Given the description of an element on the screen output the (x, y) to click on. 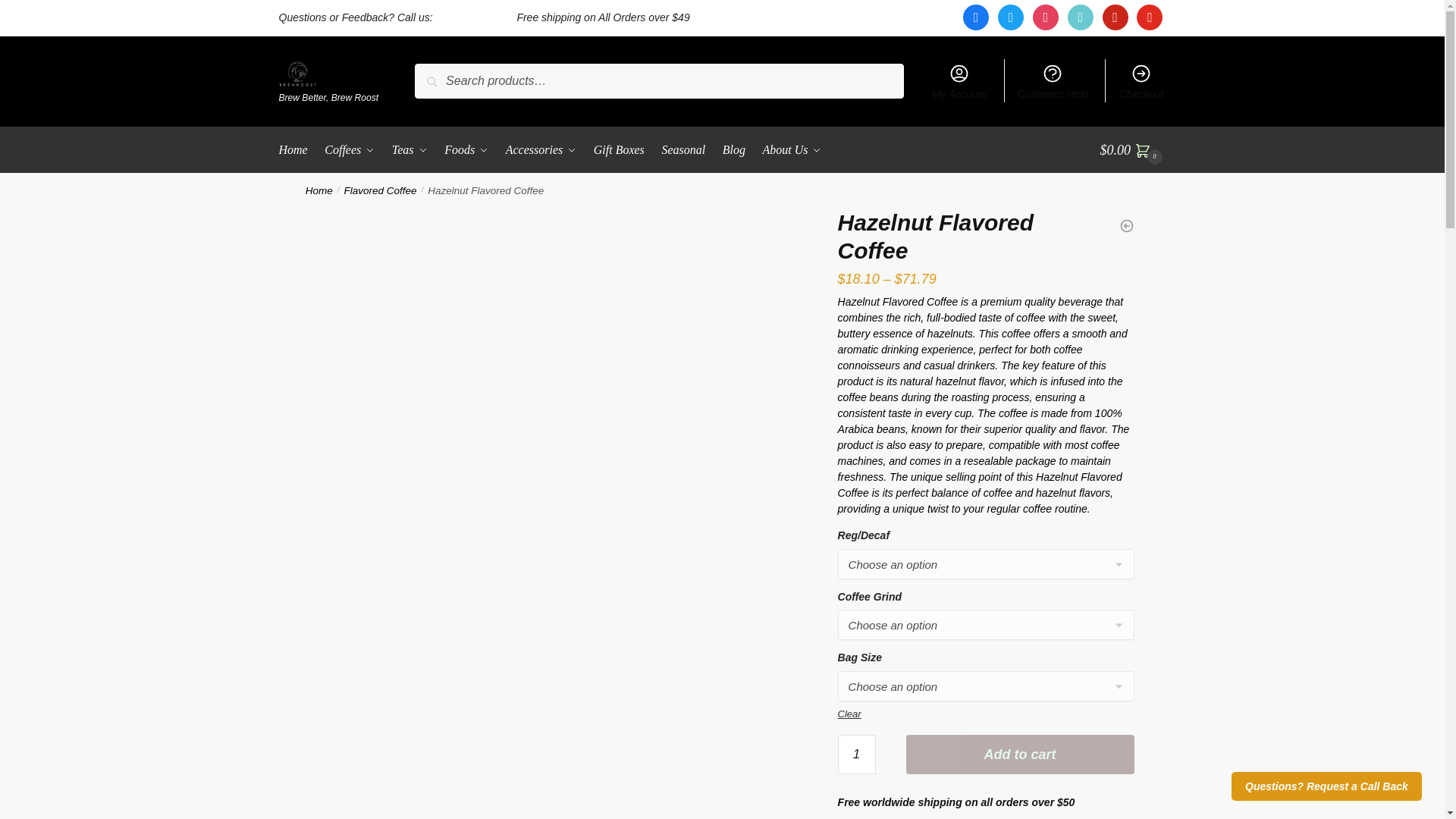
Teas (409, 149)
LinkTree (906, 17)
facebook (975, 16)
Facebook (975, 16)
Coffees (349, 149)
twitter (1010, 16)
About Us (791, 149)
Twitter (1010, 16)
Checkout (1141, 80)
Instagram (1045, 16)
